Given the description of an element on the screen output the (x, y) to click on. 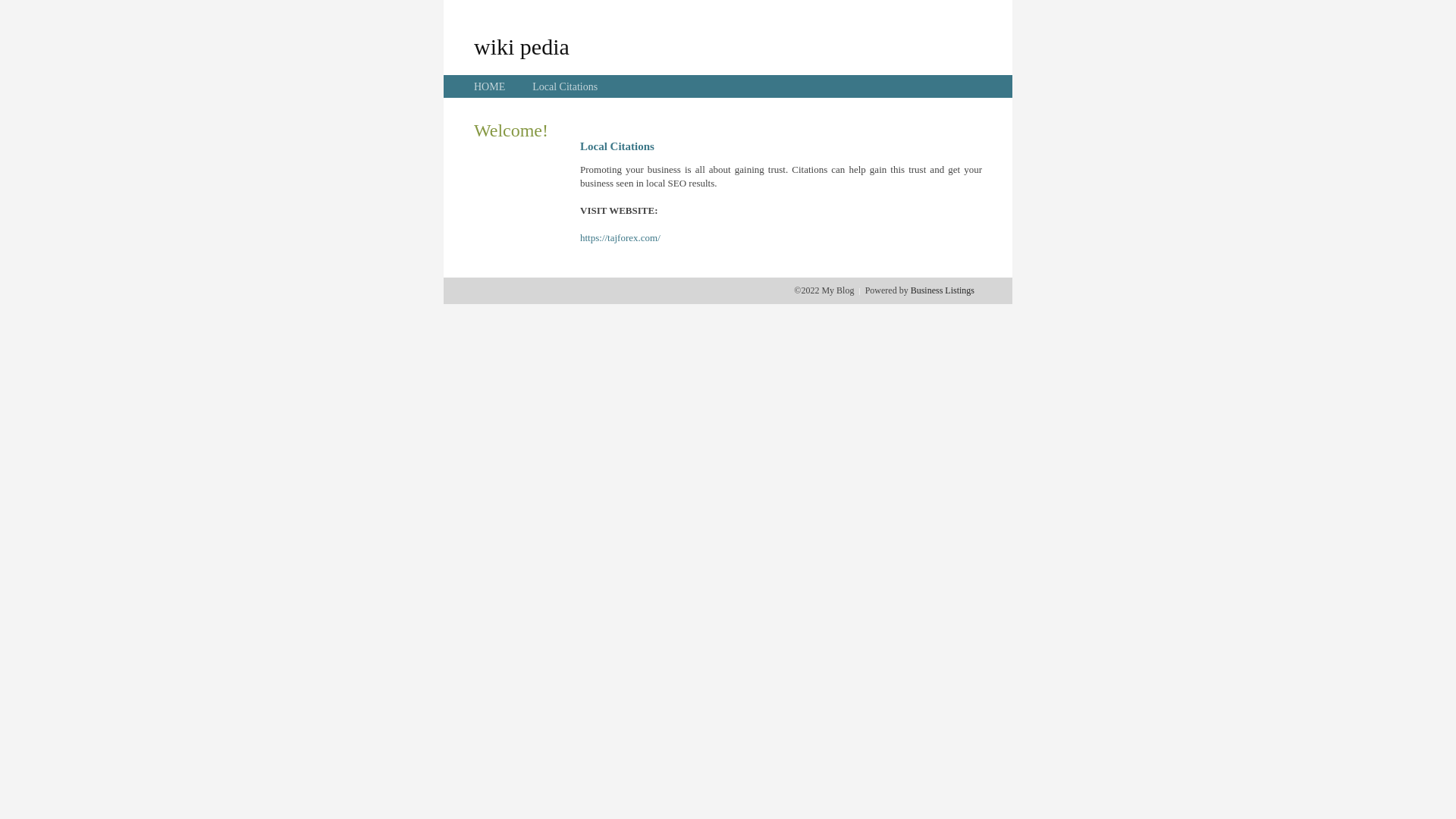
HOME Element type: text (489, 86)
https://tajforex.com/ Element type: text (620, 237)
wiki pedia Element type: text (521, 46)
Local Citations Element type: text (564, 86)
Business Listings Element type: text (942, 290)
